Given the description of an element on the screen output the (x, y) to click on. 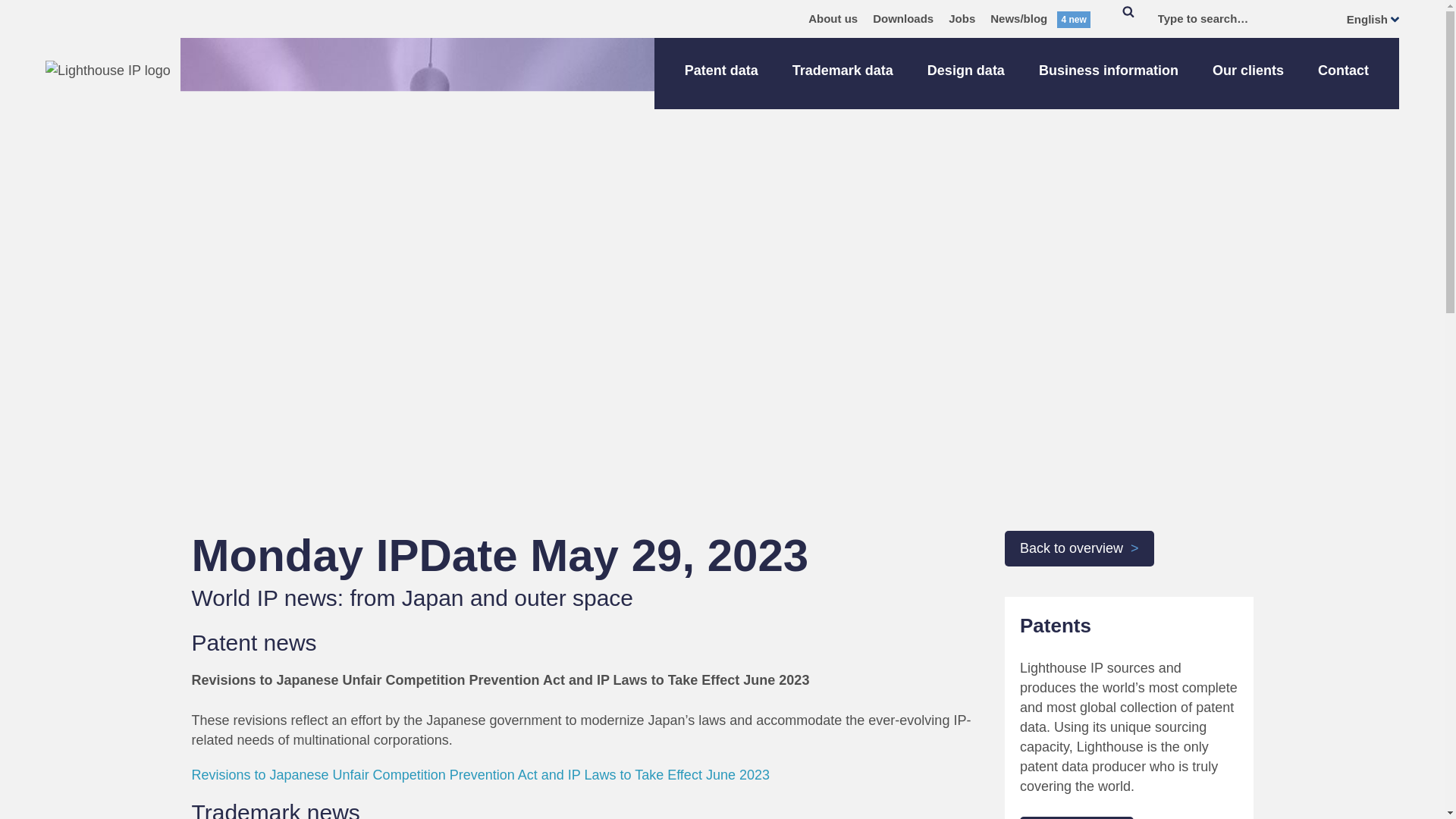
Contact (1342, 73)
Search (1128, 17)
Trademark data (842, 73)
Downloads (902, 18)
Our clients (1248, 73)
Design data (965, 73)
Read more (1077, 817)
About us (832, 18)
Business information (1108, 73)
